Given the description of an element on the screen output the (x, y) to click on. 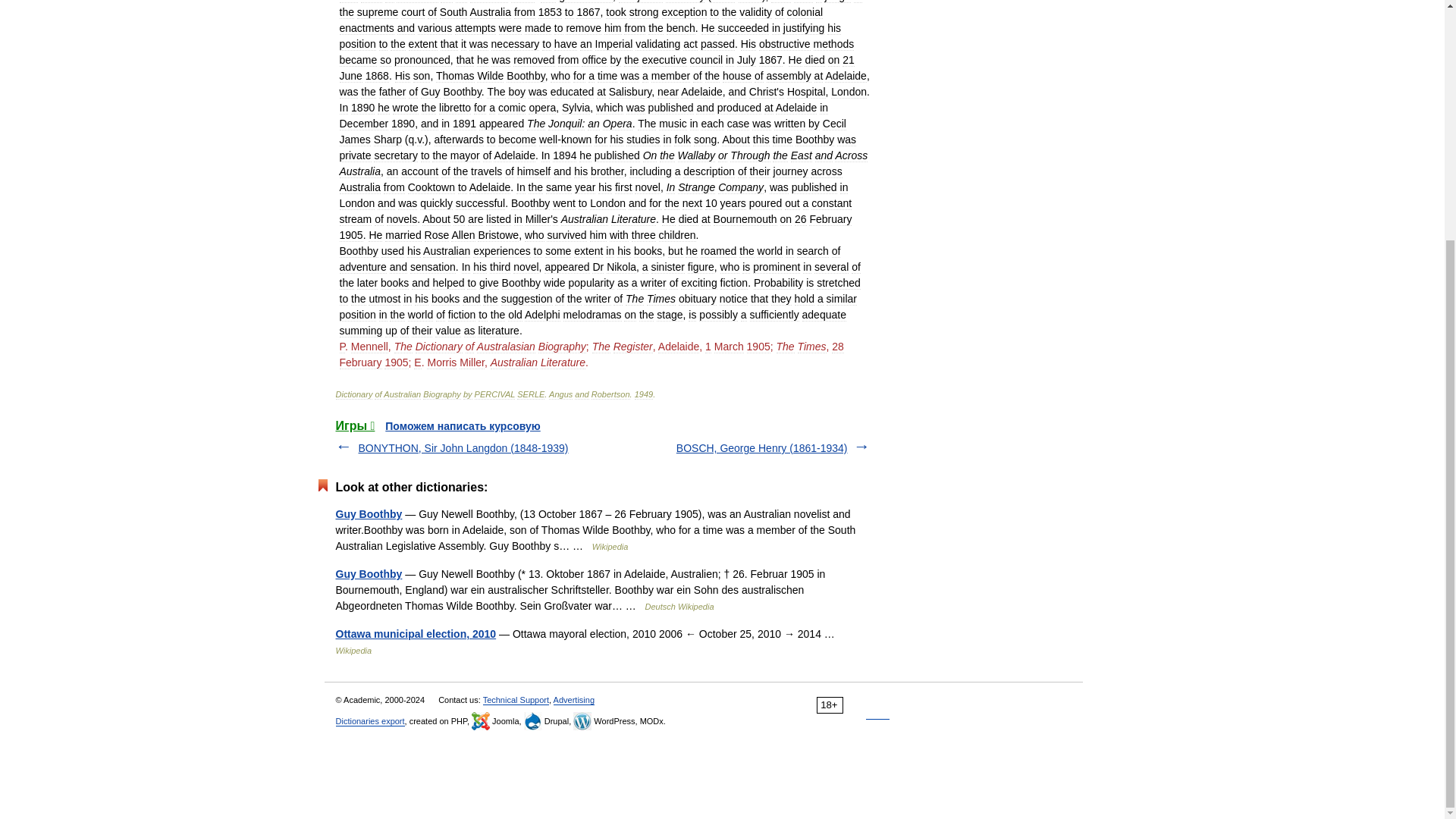
Dictionaries export (369, 721)
Guy Boothby (367, 513)
Advertising (573, 700)
Ottawa municipal election, 2010 (415, 633)
Technical Support (515, 700)
LiveInternet (877, 705)
Guy Boothby (367, 573)
